Given the description of an element on the screen output the (x, y) to click on. 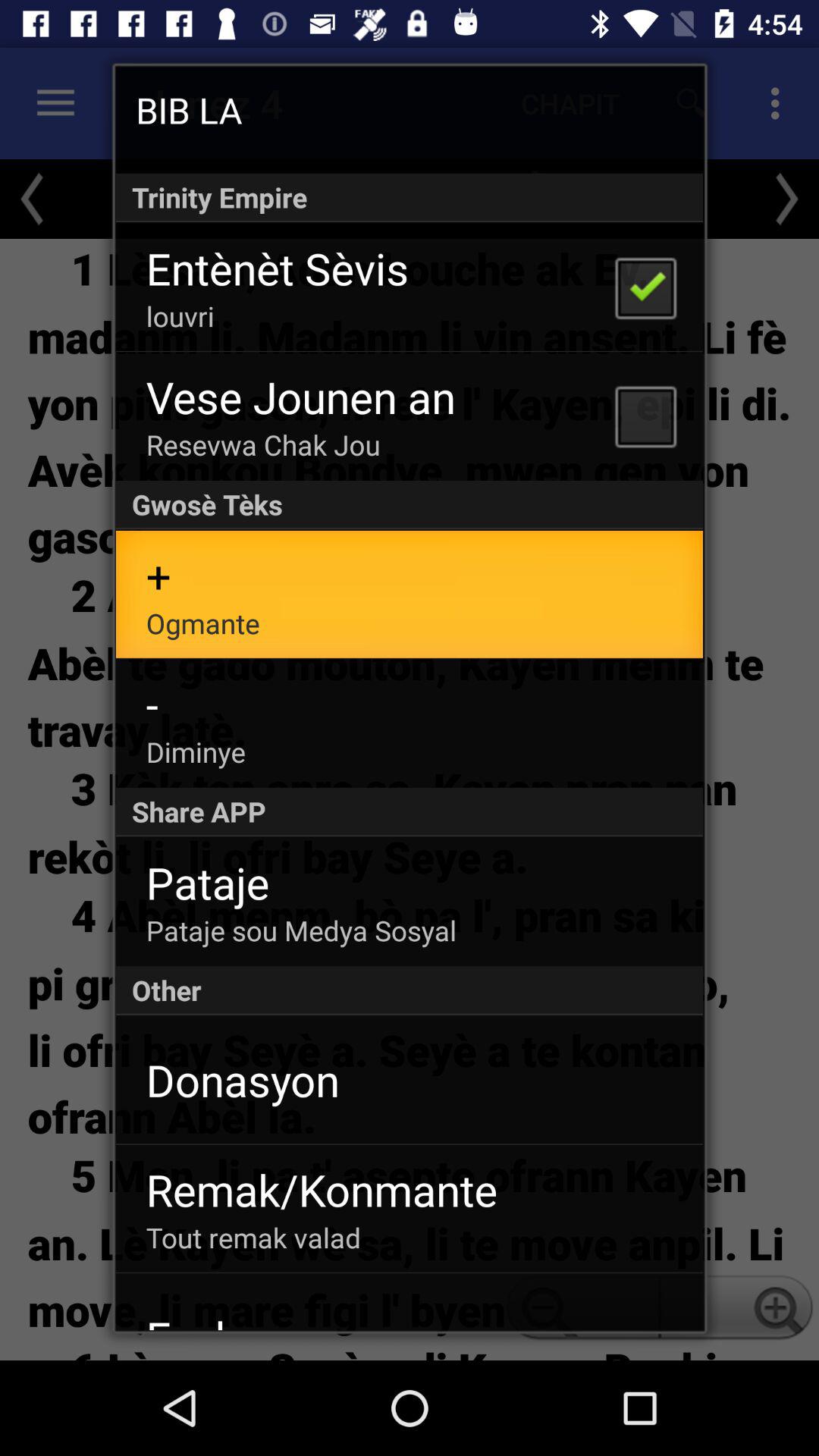
swipe to trinity empire app (409, 197)
